Given the description of an element on the screen output the (x, y) to click on. 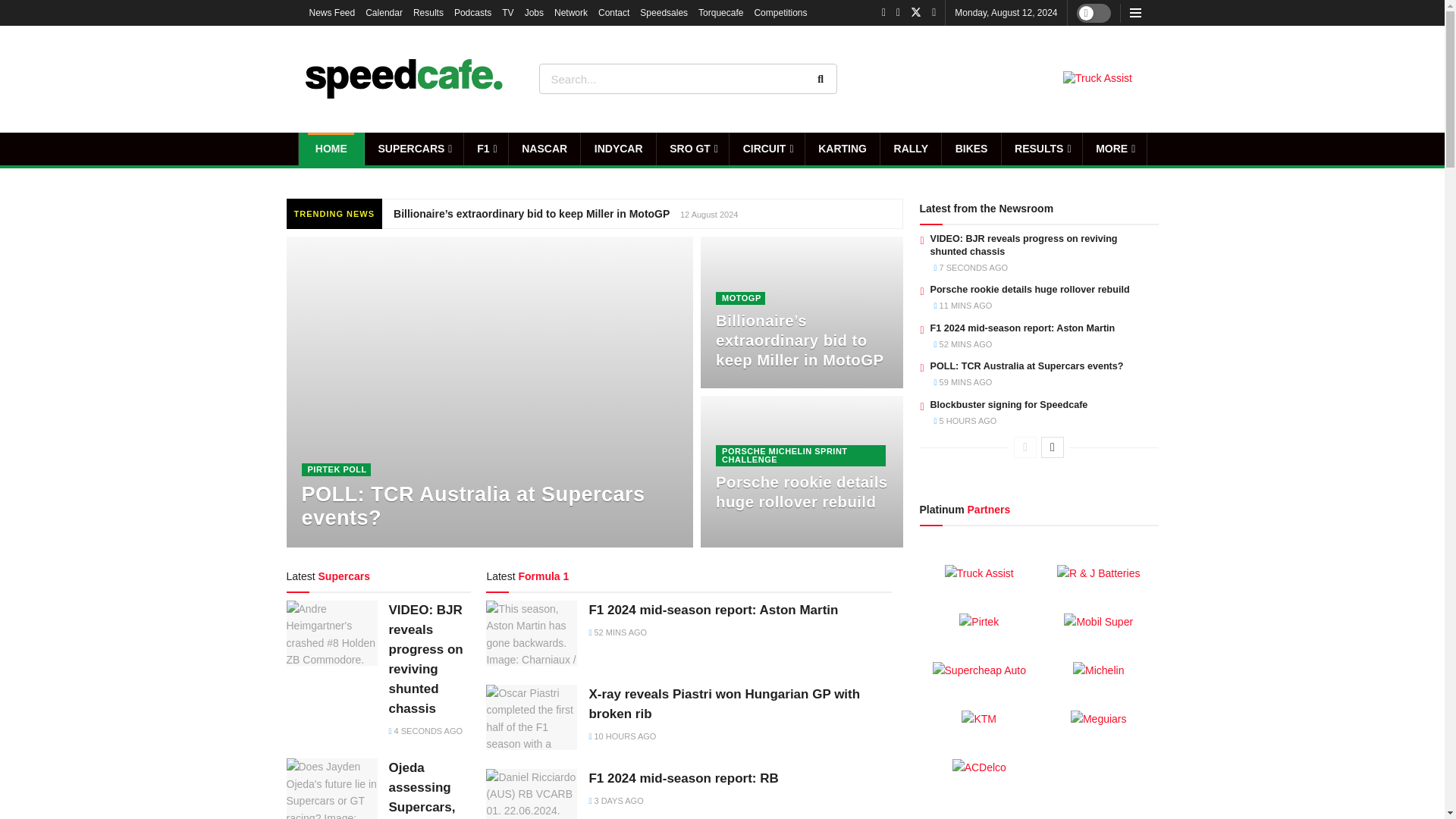
SUPERCARS (414, 148)
Contact (613, 12)
Torquecafe (720, 12)
Truck Assist (1097, 78)
Calendar (384, 12)
Competitions (780, 12)
F1 (486, 148)
News Feed (331, 12)
Results (428, 12)
Network (571, 12)
